Given the description of an element on the screen output the (x, y) to click on. 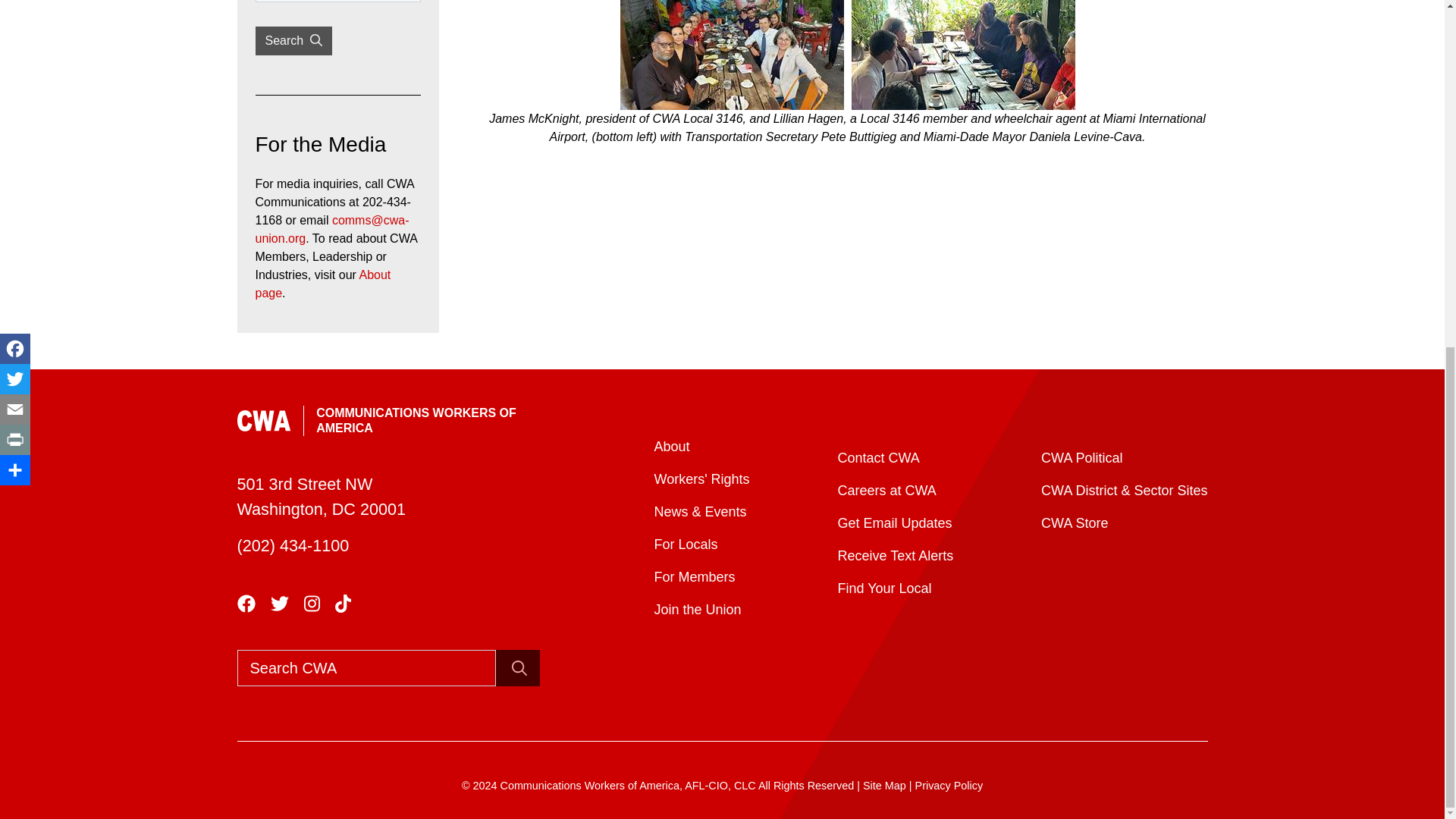
Enter the terms you wish to search for. (365, 668)
